Given the description of an element on the screen output the (x, y) to click on. 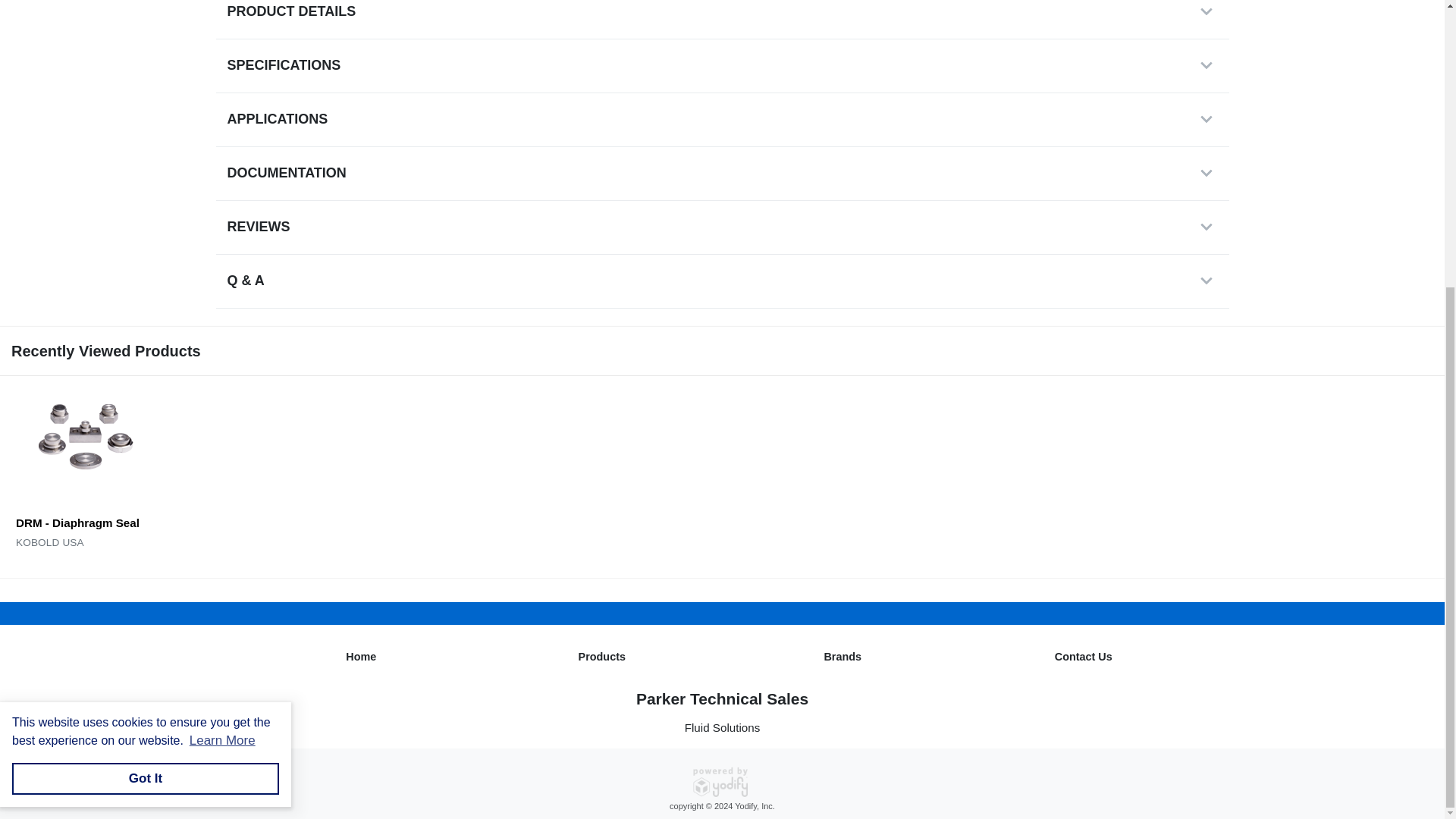
Learn More (221, 306)
Got It (145, 345)
